Given the description of an element on the screen output the (x, y) to click on. 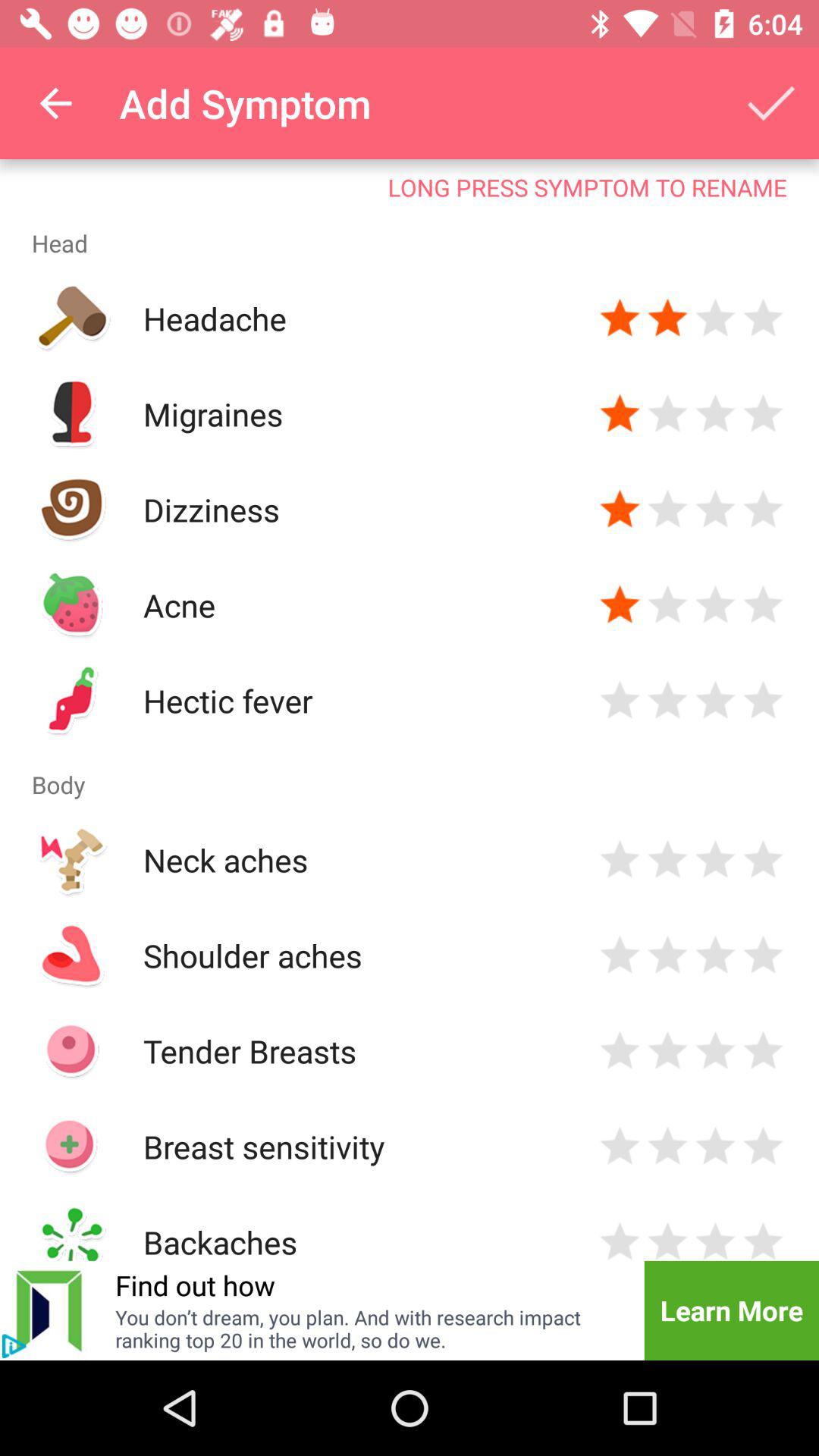
rate the level of symptom (619, 1239)
